Given the description of an element on the screen output the (x, y) to click on. 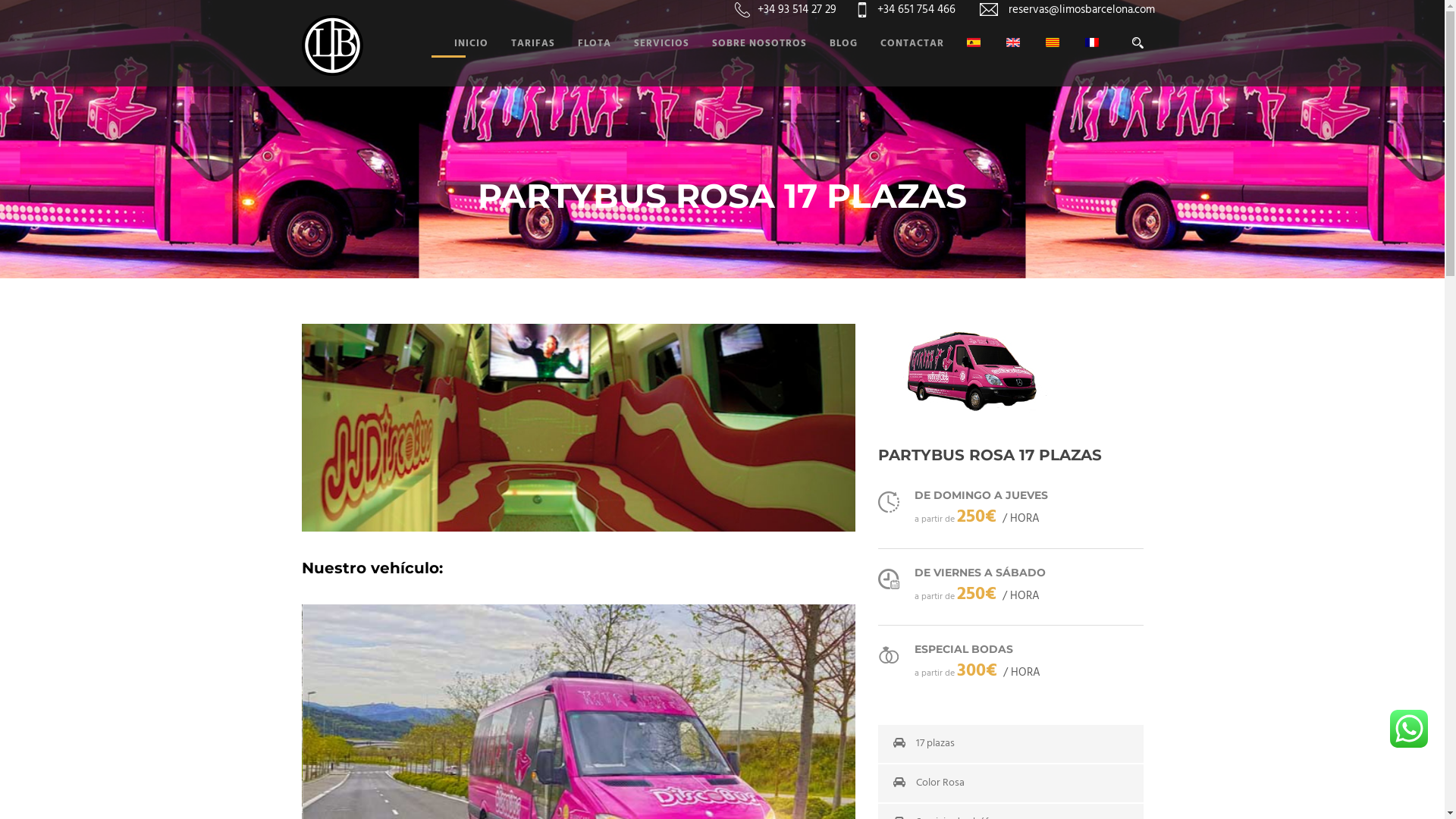
English Element type: hover (1012, 42)
FLOTA Element type: text (583, 60)
+34 651 754 466 Element type: text (914, 9)
+34 93 514 27 29 Element type: text (794, 9)
SERVICIOS Element type: text (650, 60)
SOBRE NOSOTROS Element type: text (747, 60)
BLOG Element type: text (831, 60)
reservas@limosbarcelona.com Element type: text (1079, 9)
TARIFAS Element type: text (521, 60)
INICIO Element type: text (458, 60)
CONTACTAR Element type: text (899, 60)
